Given the description of an element on the screen output the (x, y) to click on. 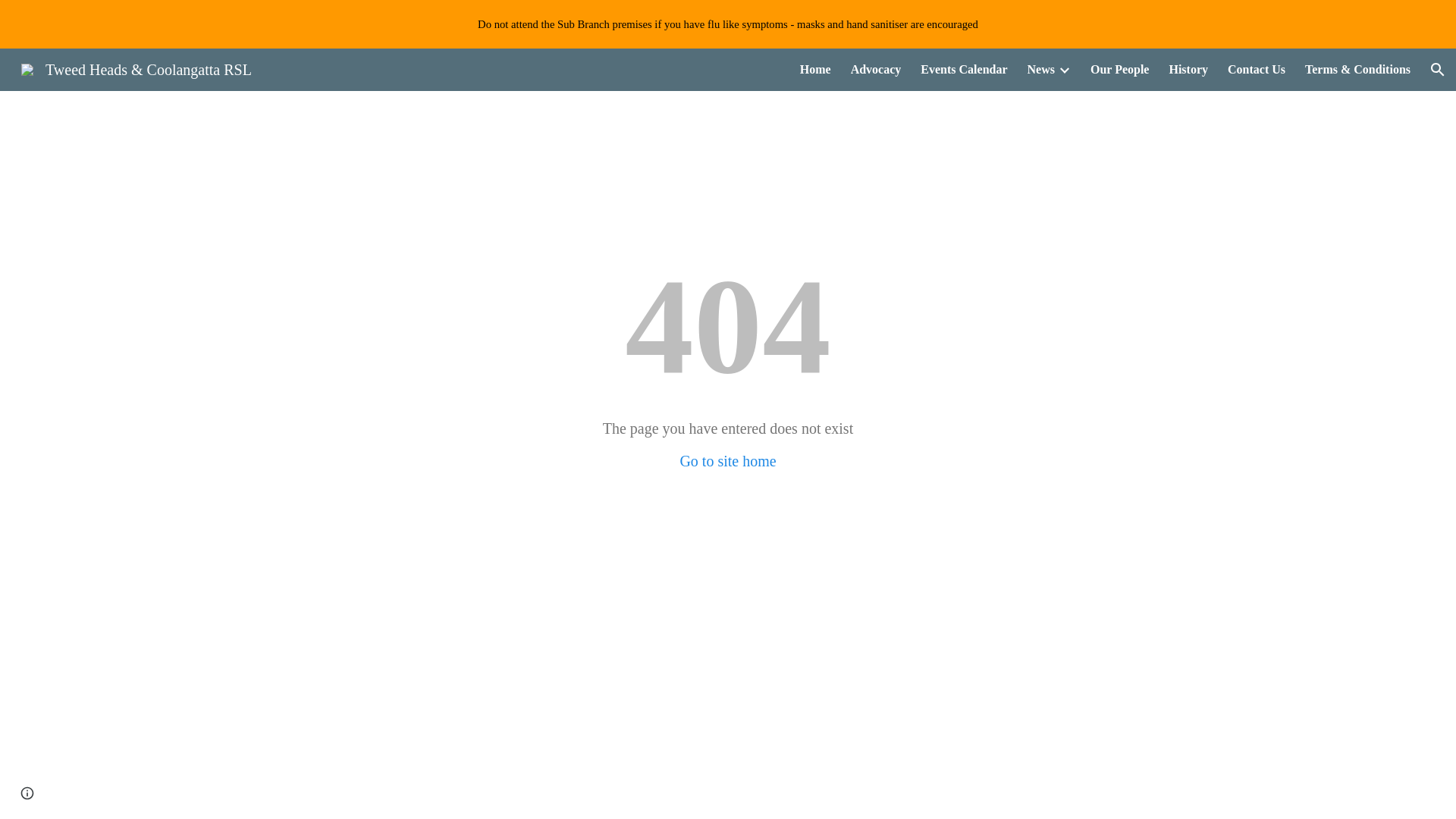
News Element type: text (1040, 69)
Home Element type: text (815, 69)
Tweed Heads & Coolangatta RSL Element type: text (136, 67)
Go to site home Element type: text (727, 460)
Our People Element type: text (1119, 69)
Events Calendar Element type: text (963, 69)
Contact Us Element type: text (1256, 69)
Terms & Conditions Element type: text (1357, 69)
Expand/Collapse Element type: hover (1063, 69)
Advocacy Element type: text (875, 69)
History Element type: text (1188, 69)
